Given the description of an element on the screen output the (x, y) to click on. 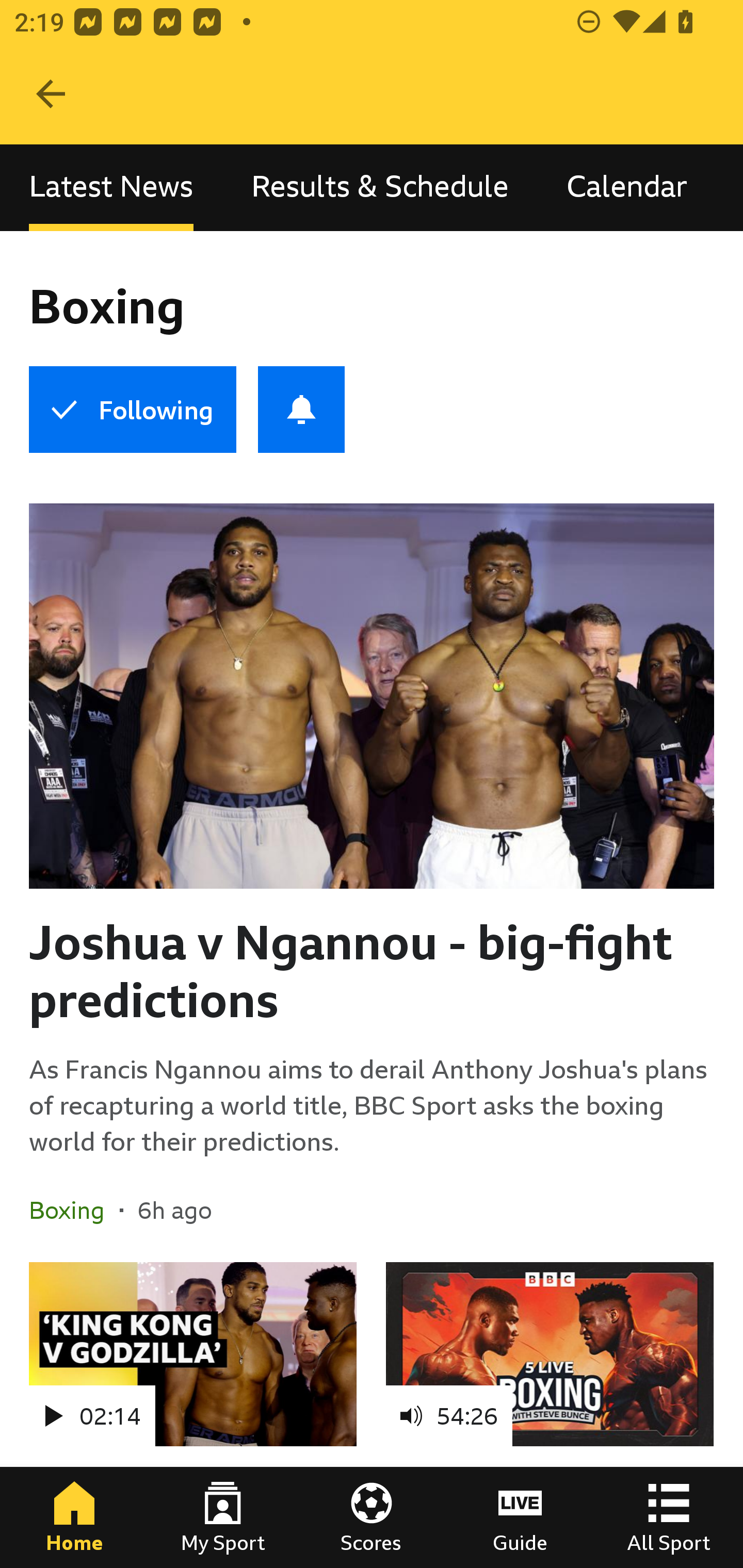
Navigate up (50, 93)
Latest News, selected Latest News (111, 187)
Results & Schedule (379, 187)
Calendar (626, 187)
Following Boxing Following (132, 409)
Push notifications for Boxing (300, 409)
My Sport (222, 1517)
Scores (371, 1517)
Guide (519, 1517)
All Sport (668, 1517)
